Given the description of an element on the screen output the (x, y) to click on. 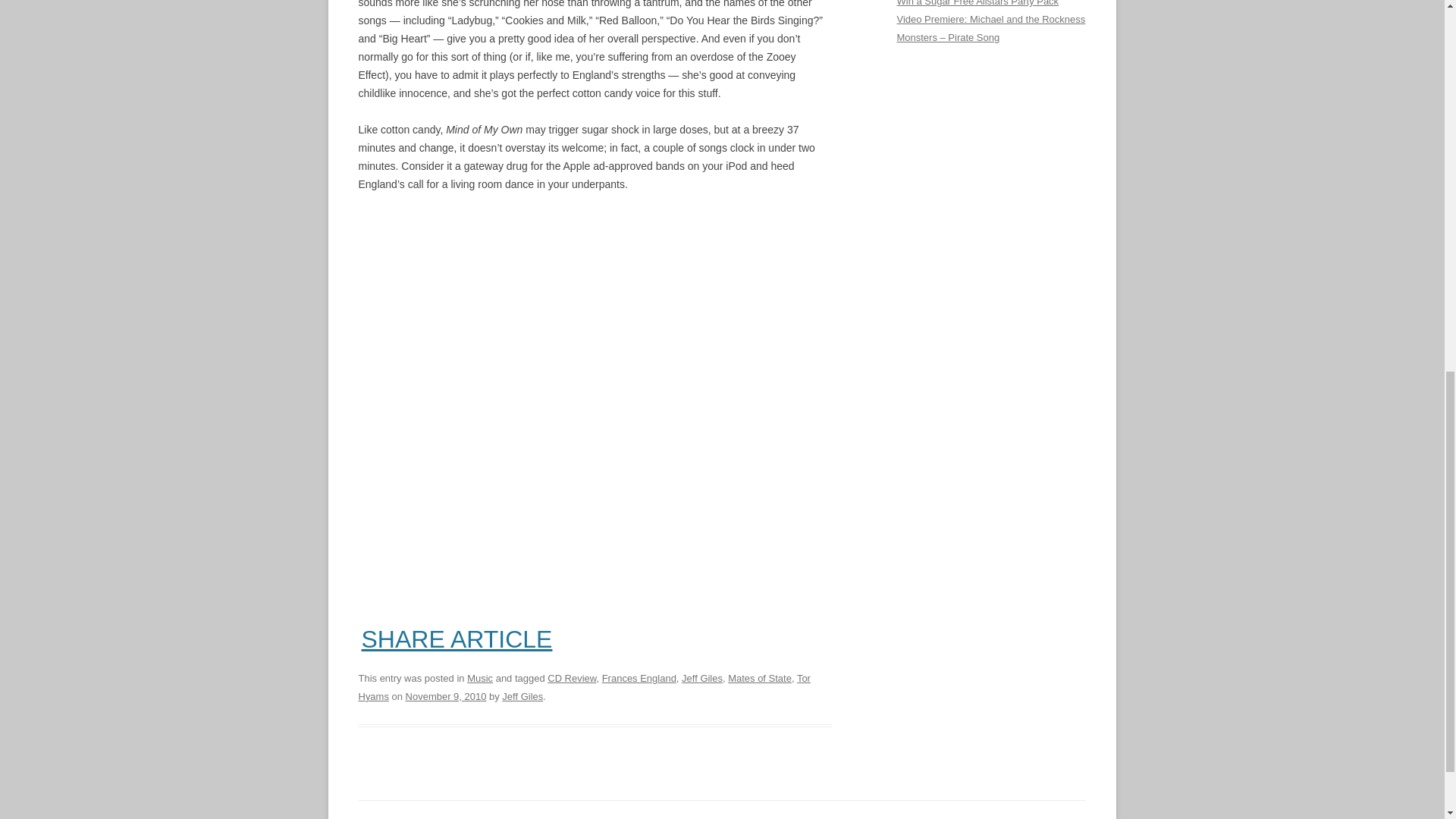
View all posts by Jeff Giles (522, 696)
Frances England (639, 677)
Tor Hyams (583, 686)
Win a Sugar Free Allstars Party Pack (977, 3)
CD Review (571, 677)
Jeff Giles (522, 696)
November 9, 2010 (446, 696)
Music (480, 677)
Jeff Giles (701, 677)
10:02 am (446, 696)
SHARE ARTICLE (456, 639)
Mates of State (760, 677)
